Given the description of an element on the screen output the (x, y) to click on. 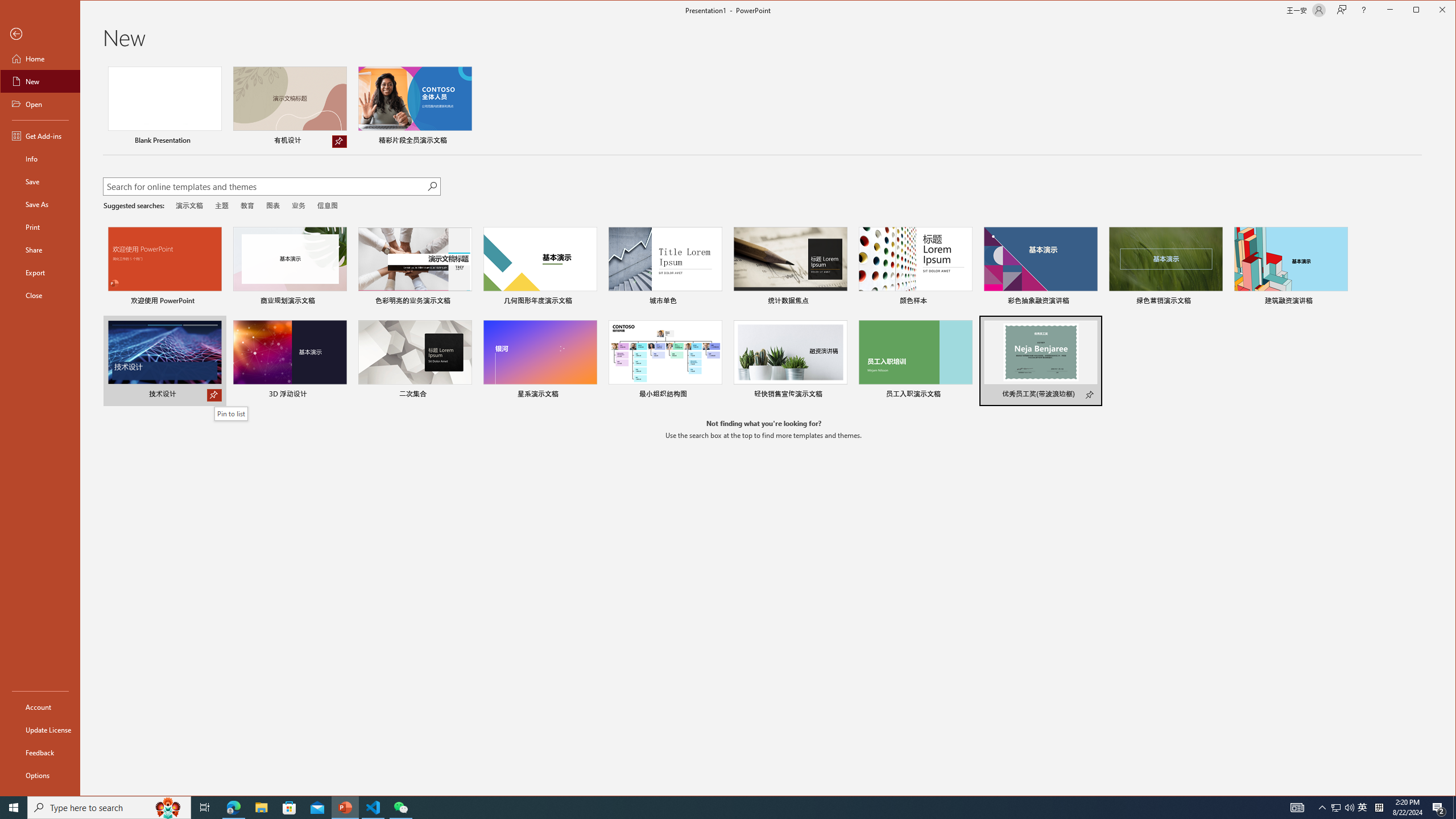
WeChat - 1 running window (400, 807)
Class: NetUIScrollBar (1450, 428)
New (40, 80)
